Given the description of an element on the screen output the (x, y) to click on. 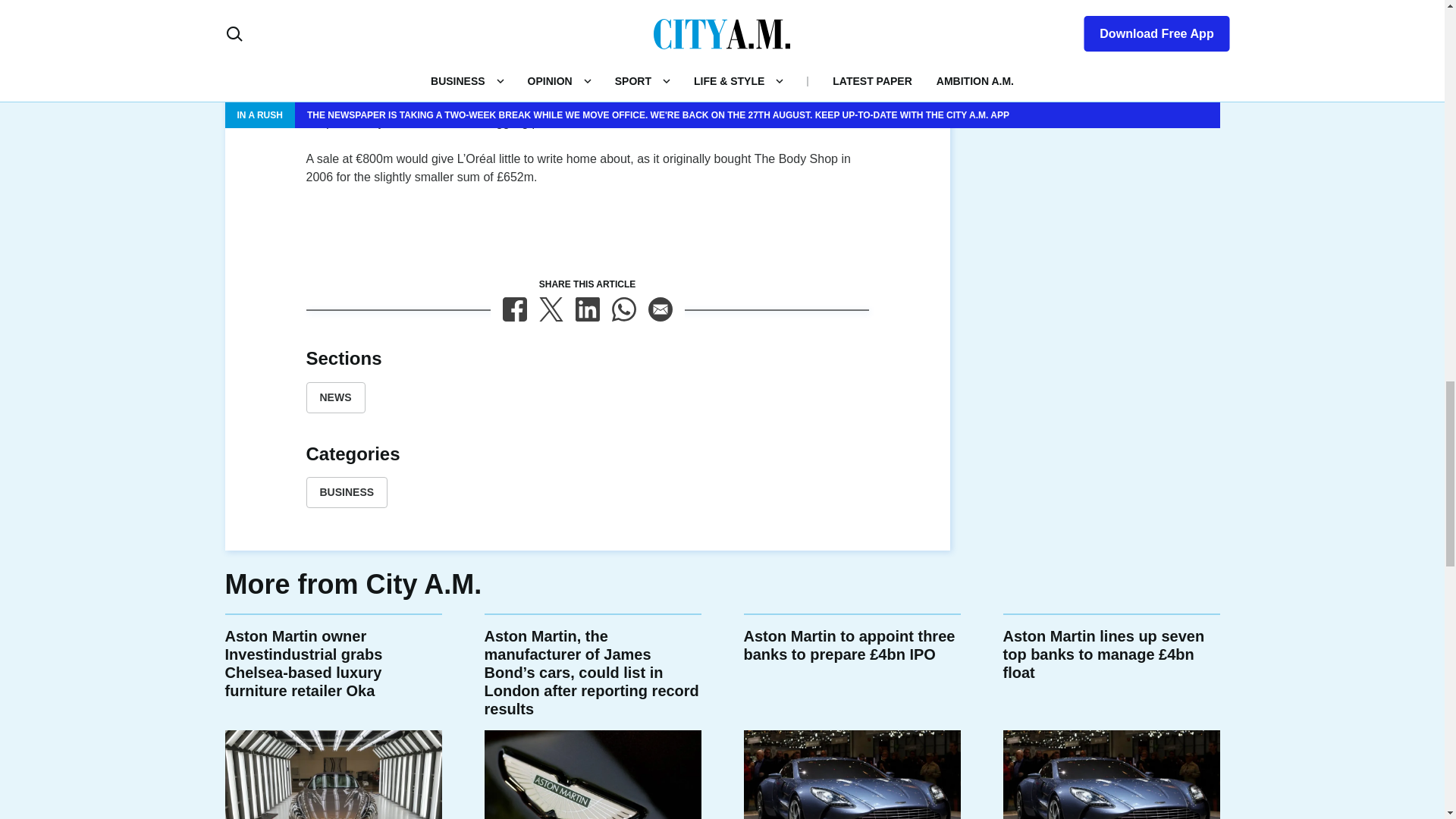
WhatsApp (622, 309)
Email (659, 309)
LinkedIn (586, 309)
Facebook (513, 309)
X (550, 309)
